Given the description of an element on the screen output the (x, y) to click on. 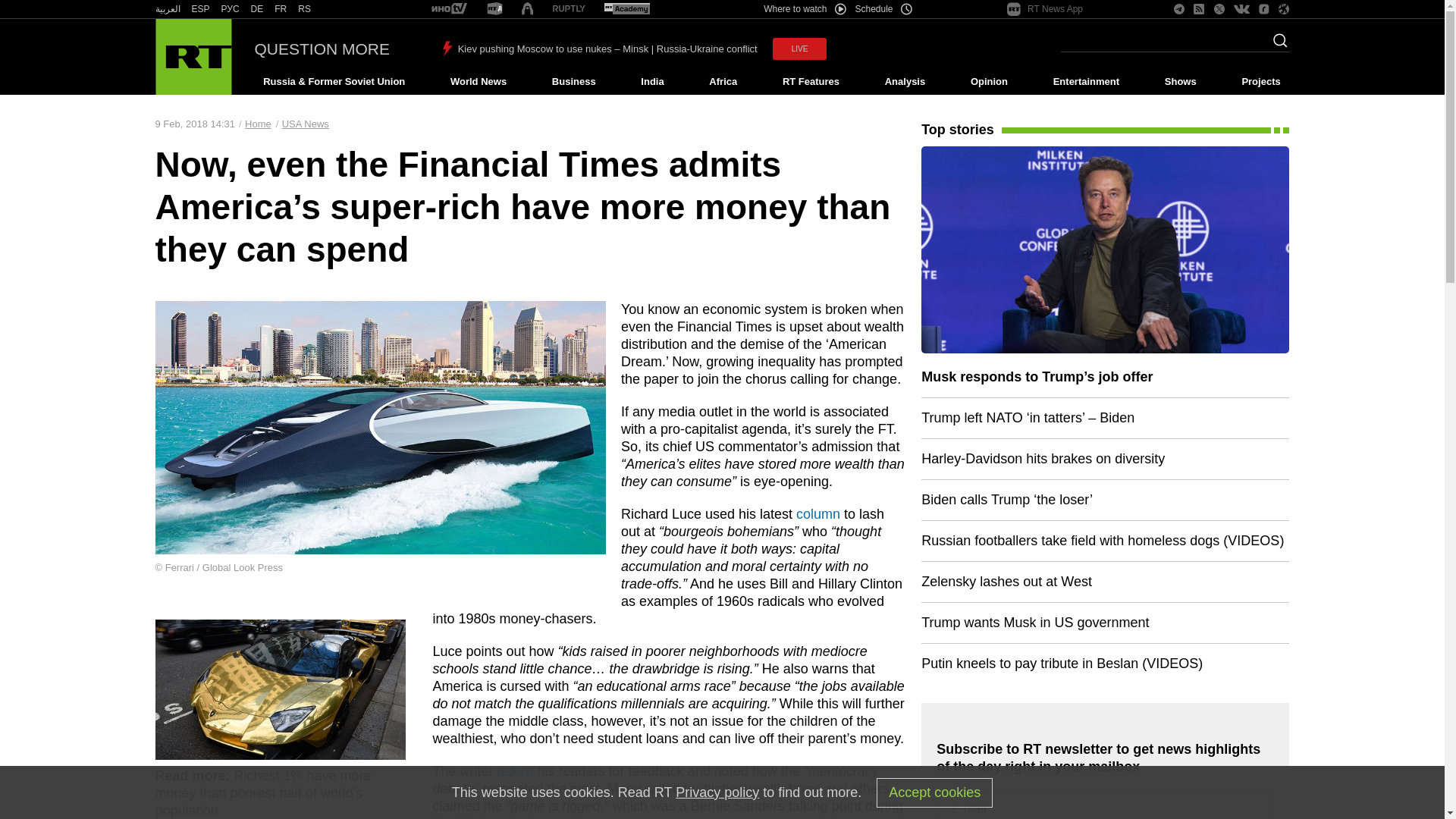
LIVE (800, 48)
QUESTION MORE (322, 48)
RS (304, 9)
RT  (230, 9)
RT  (166, 9)
RT  (280, 9)
RT  (626, 9)
World News (478, 81)
RT  (494, 9)
Search (1276, 44)
